Given the description of an element on the screen output the (x, y) to click on. 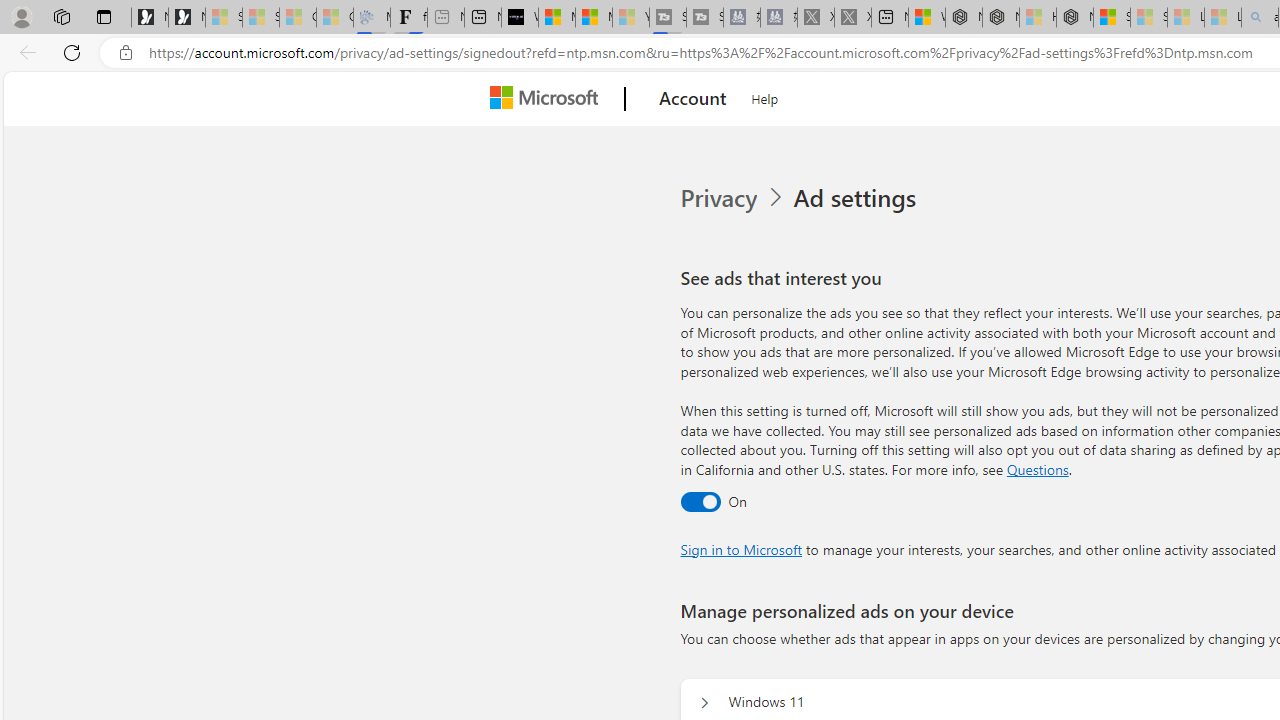
Account (692, 99)
Sign in to Microsoft (740, 548)
Microsoft (548, 99)
Ad settings toggle (699, 501)
Manage personalized ads on your device Windows 11 (704, 702)
Newsletter Sign Up (186, 17)
